Given the description of an element on the screen output the (x, y) to click on. 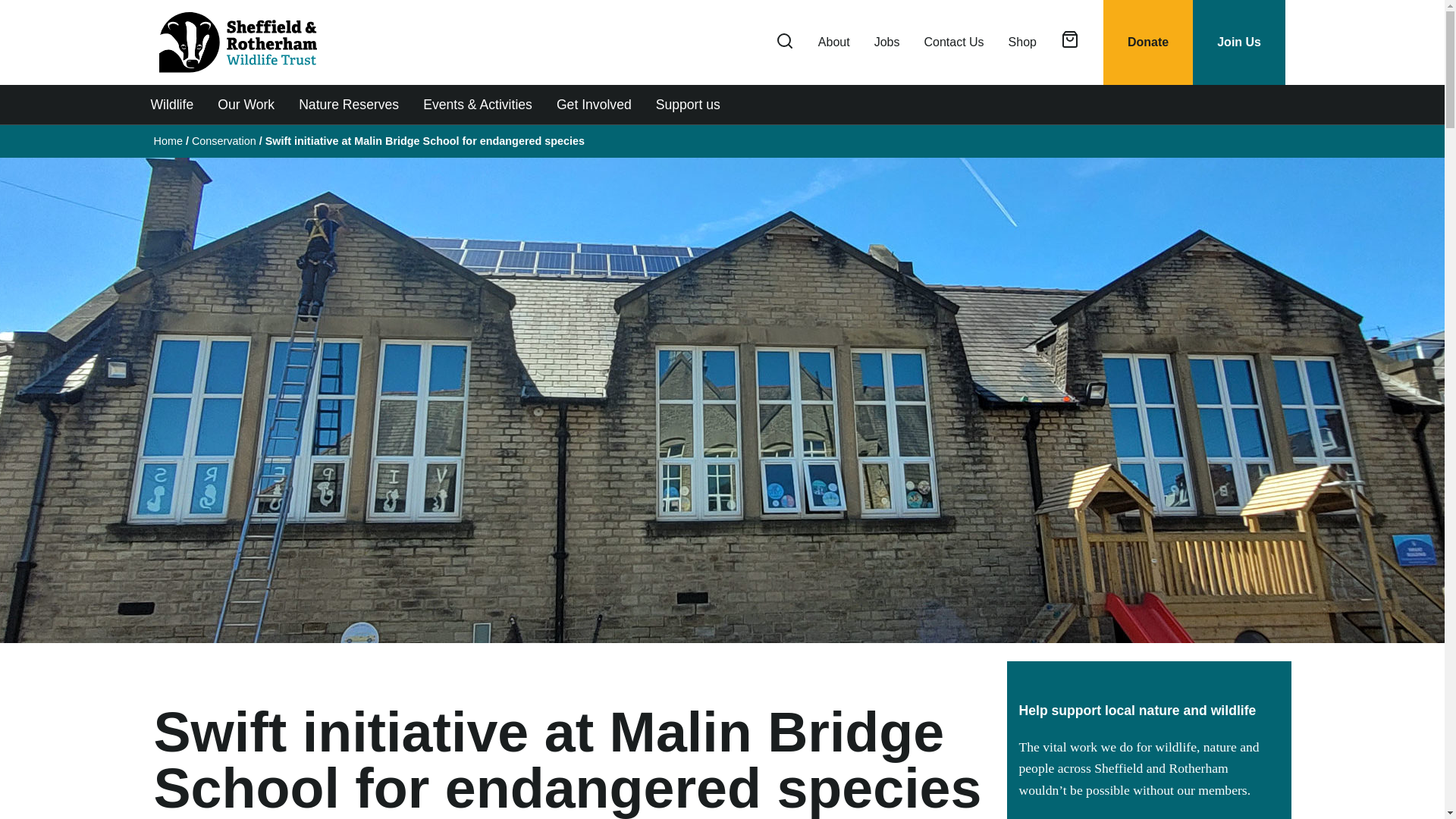
Search (1248, 216)
Wildlife (171, 104)
Donate (1147, 42)
Contact Us (953, 42)
Our Work (245, 104)
Join Us (1238, 42)
